Given the description of an element on the screen output the (x, y) to click on. 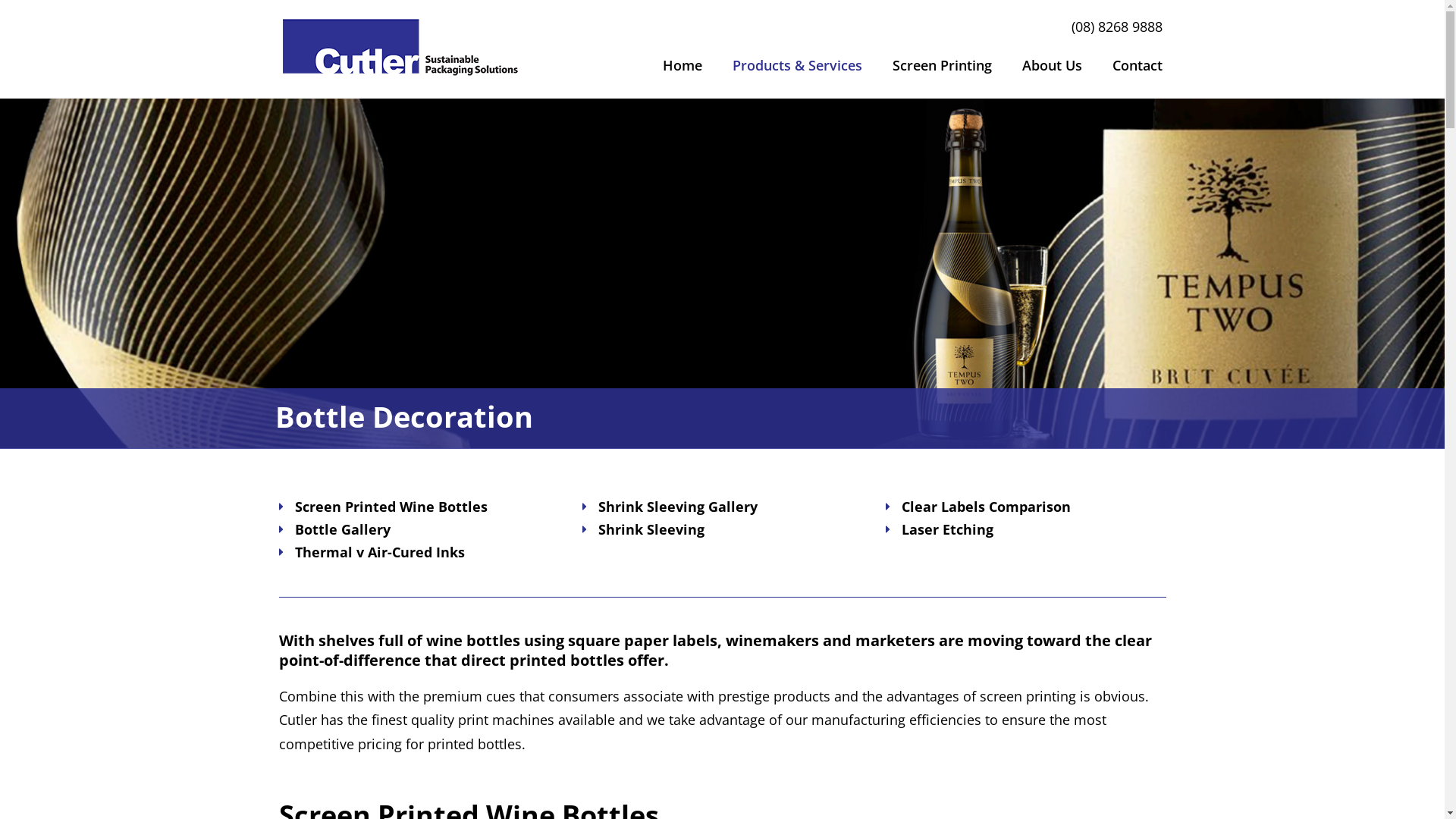
About Us Element type: text (1052, 63)
Contact Element type: text (1136, 63)
Thermal v Air-Cured Inks Element type: text (379, 551)
Laser Etching Element type: text (946, 529)
Screen Printed Wine Bottles Element type: text (390, 506)
Clear Labels Comparison Element type: text (985, 506)
Shrink Sleeving Gallery Element type: text (676, 506)
Screen Printing Element type: text (941, 63)
Home Element type: text (682, 63)
(08) 8268 9888 Element type: text (1115, 26)
Shrink Sleeving Element type: text (650, 529)
Bottle Gallery Element type: text (341, 529)
Products & Services Element type: text (797, 63)
Screen Printed Packaging, Display & Functional Products Element type: hover (400, 48)
